Given the description of an element on the screen output the (x, y) to click on. 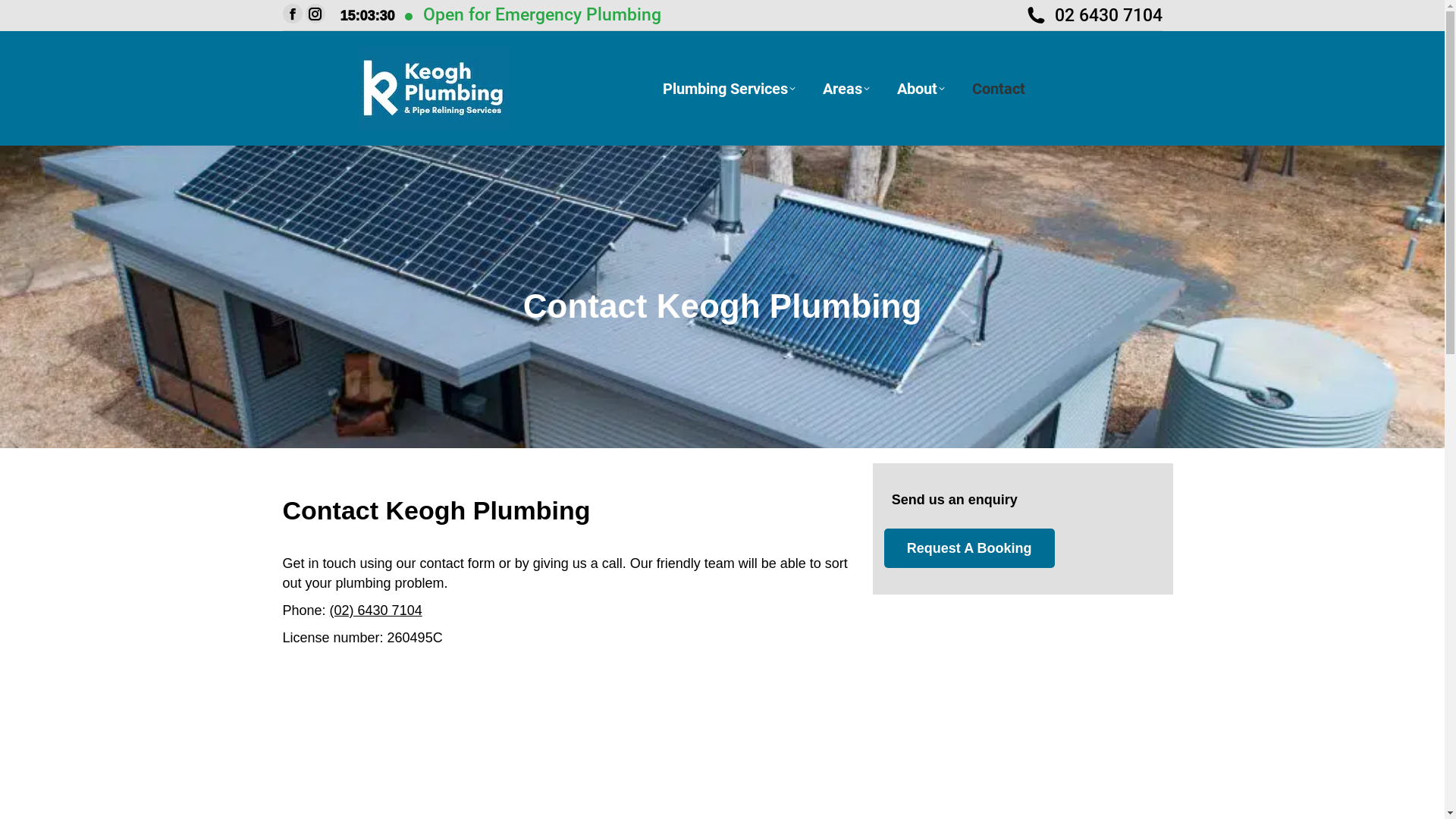
Instagram page opens in new window Element type: text (314, 13)
Areas Element type: text (845, 87)
Facebook page opens in new window Element type: text (291, 13)
About Element type: text (920, 87)
Contact Element type: text (998, 87)
Plumbing Services Element type: text (728, 87)
Request A Booking Element type: text (969, 547)
02 6430 7104 Element type: text (1092, 15)
(02) 6430 7104 Element type: text (375, 610)
